Given the description of an element on the screen output the (x, y) to click on. 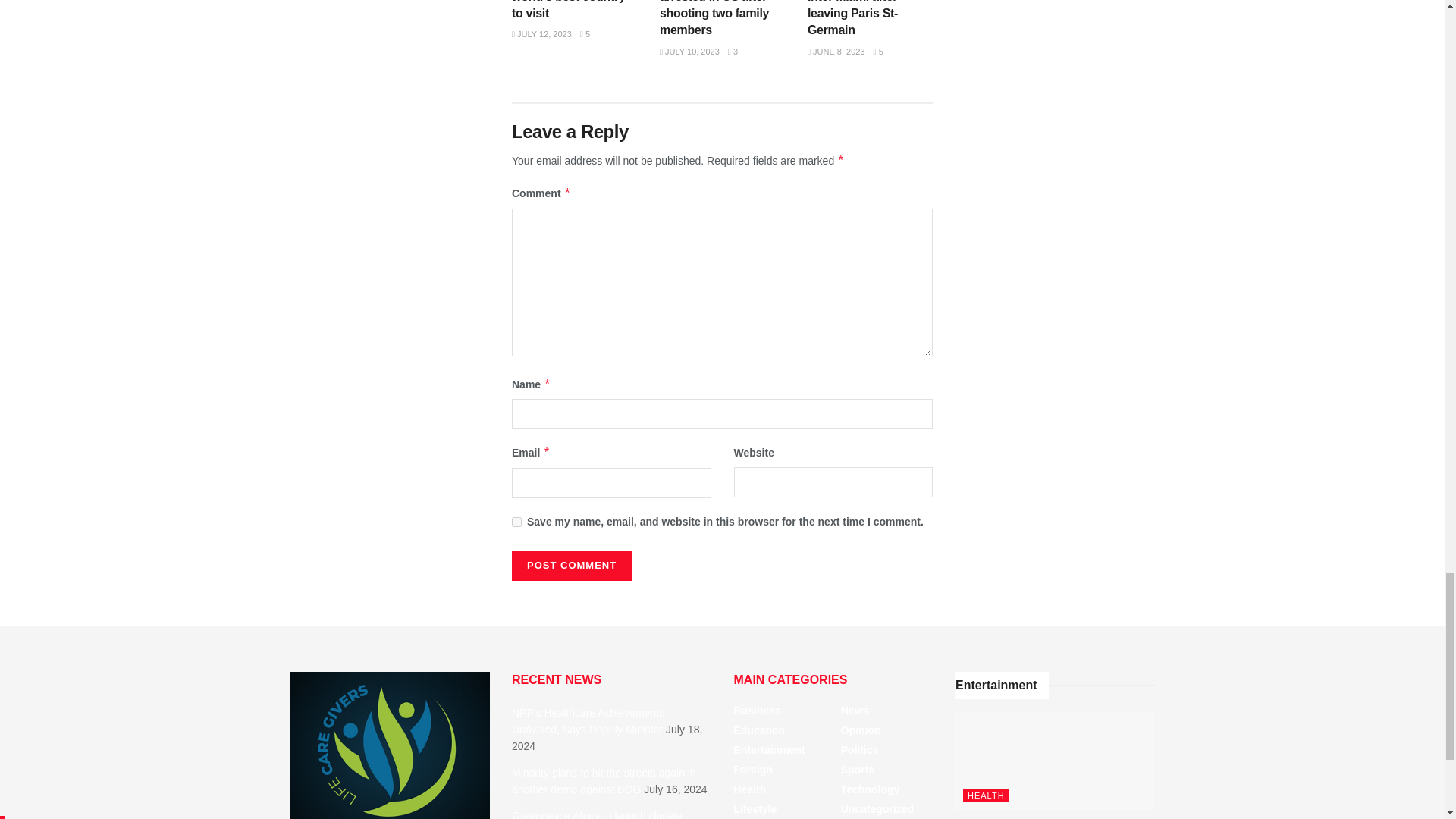
yes (516, 521)
Post Comment (571, 565)
